Given the description of an element on the screen output the (x, y) to click on. 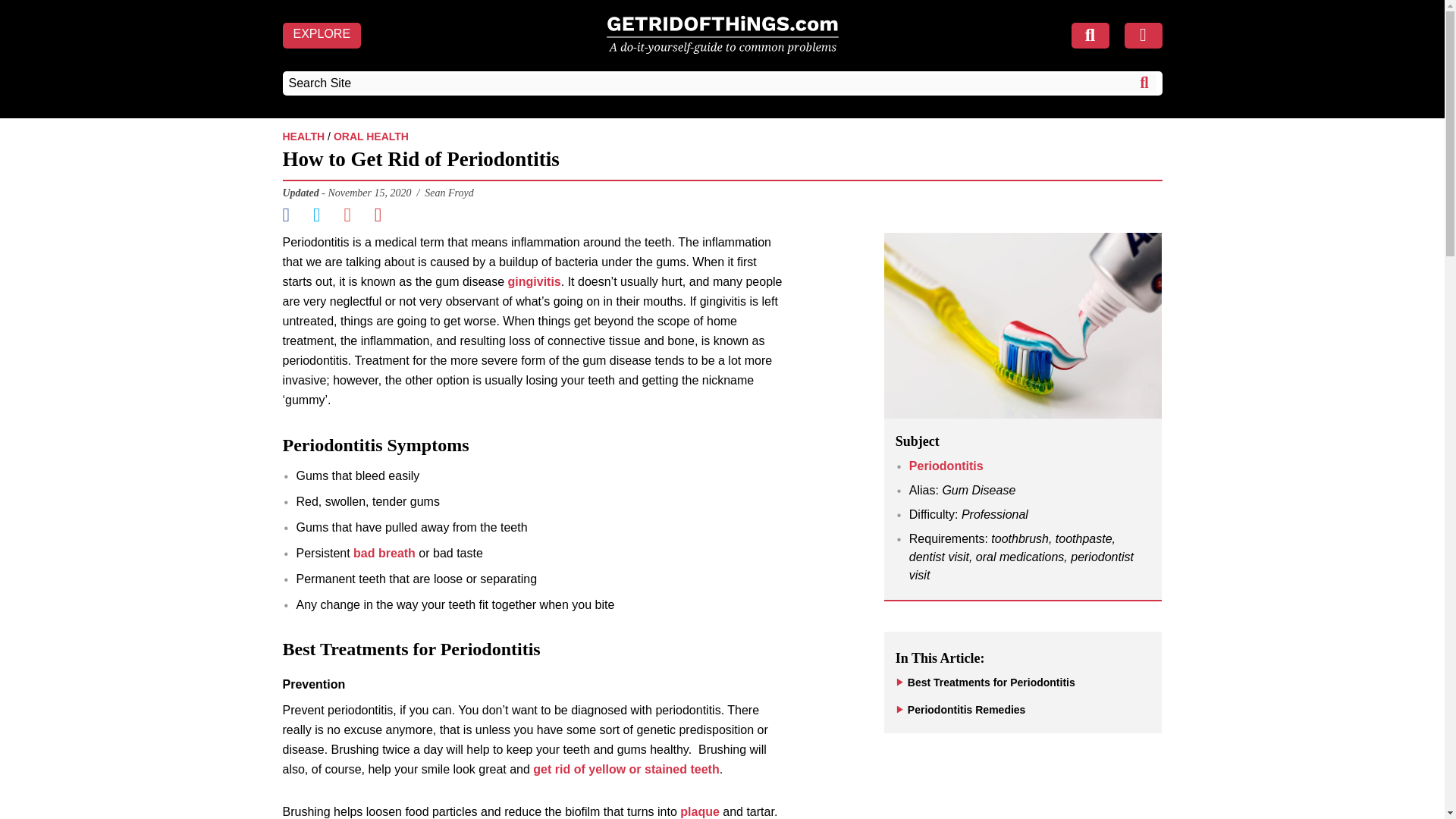
EXPLORE (321, 35)
